Given the description of an element on the screen output the (x, y) to click on. 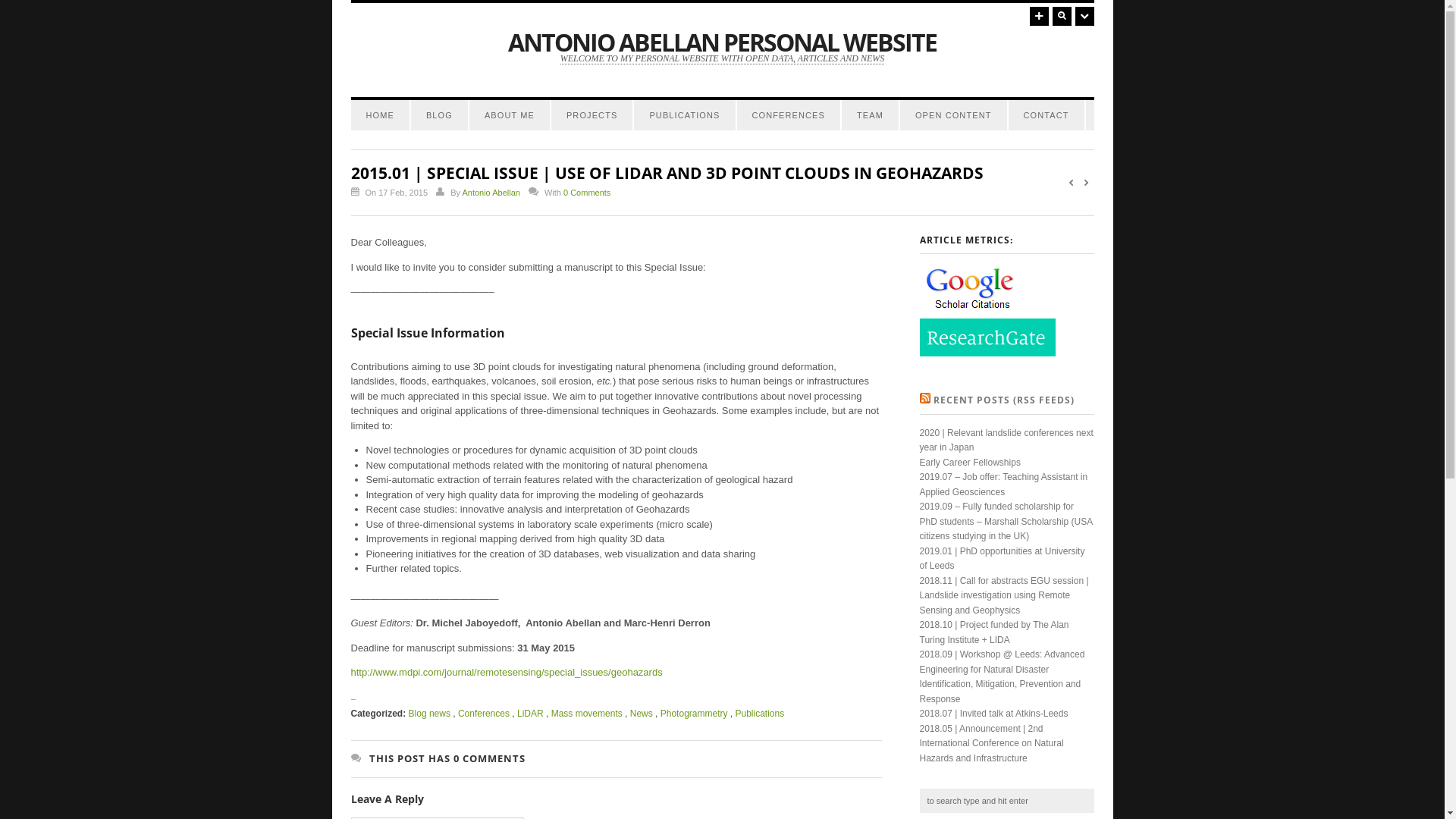
CONTACT Element type: text (1046, 115)
ABOUT ME Element type: text (509, 115)
Photogrammetry Element type: text (694, 713)
BLOG Element type: text (439, 115)
RECENT POSTS (RSS FEEDS) Element type: text (1002, 399)
News Element type: text (641, 713)
2020 | Relevant landslide conferences next year in Japan Element type: text (1005, 440)
CONFERENCES Element type: text (788, 115)
Mass movements Element type: text (586, 713)
ANTONIO ABELLAN PERSONAL WEBSITE Element type: text (722, 41)
Antonio Abellan Element type: text (490, 192)
OPEN CONTENT Element type: text (953, 115)
LiDAR Element type: text (530, 713)
Publications Element type: text (759, 713)
HOME Element type: text (379, 115)
PROJECTS Element type: text (591, 115)
2019.01 | PhD opportunities at University of Leeds Element type: text (1001, 558)
TEAM Element type: text (869, 115)
0 Comments Element type: text (586, 192)
Early Career Fellowships Element type: text (969, 462)
2018.10 | Project funded by The Alan Turing Institute + LIDA Element type: text (993, 632)
Conferences Element type: text (483, 713)
PUBLICATIONS Element type: text (683, 115)
2018.07 | Invited talk at Atkins-Leeds Element type: text (993, 713)
Blog news Element type: text (429, 713)
